Given the description of an element on the screen output the (x, y) to click on. 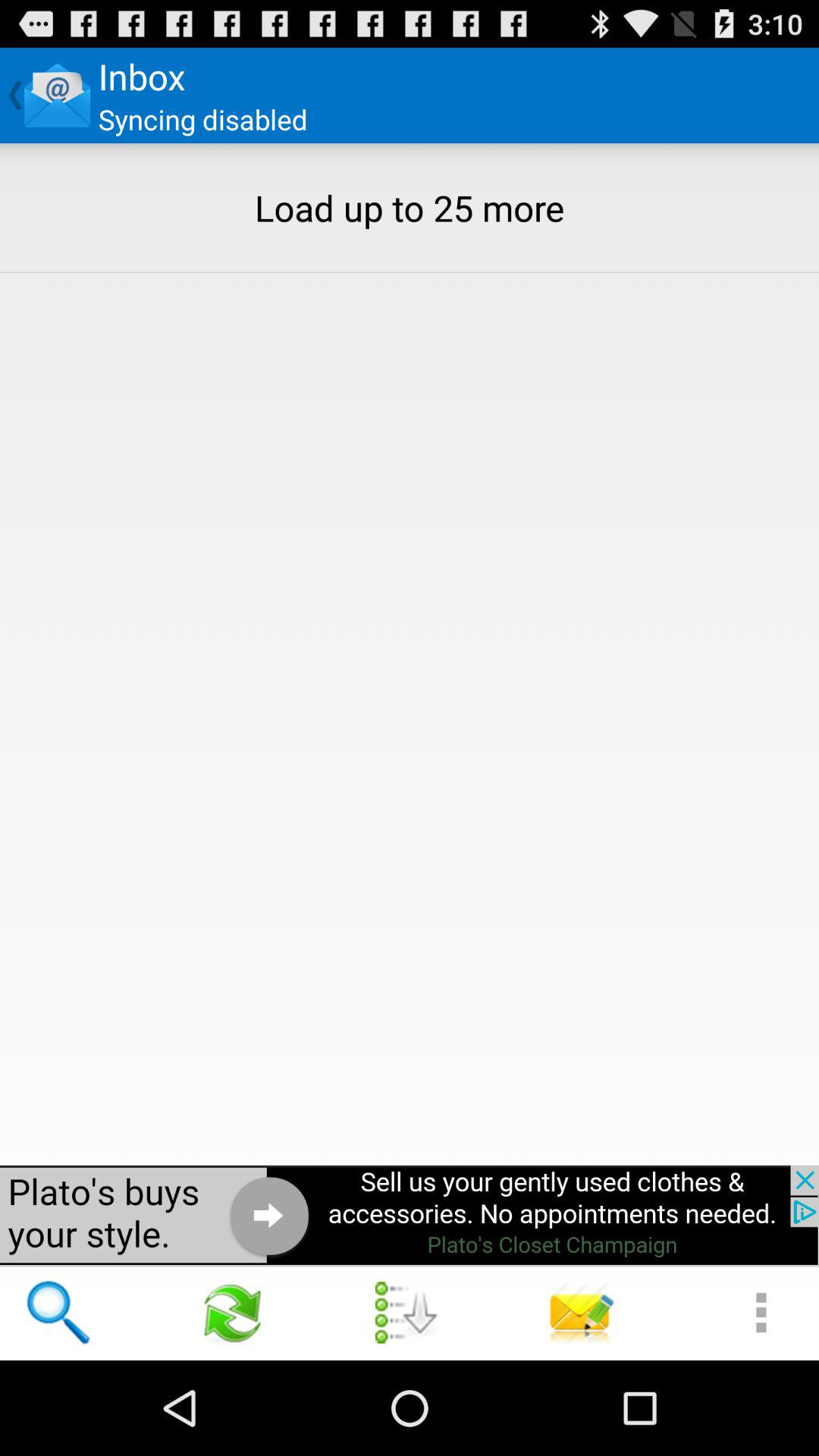
advertisement page (409, 1214)
